Given the description of an element on the screen output the (x, y) to click on. 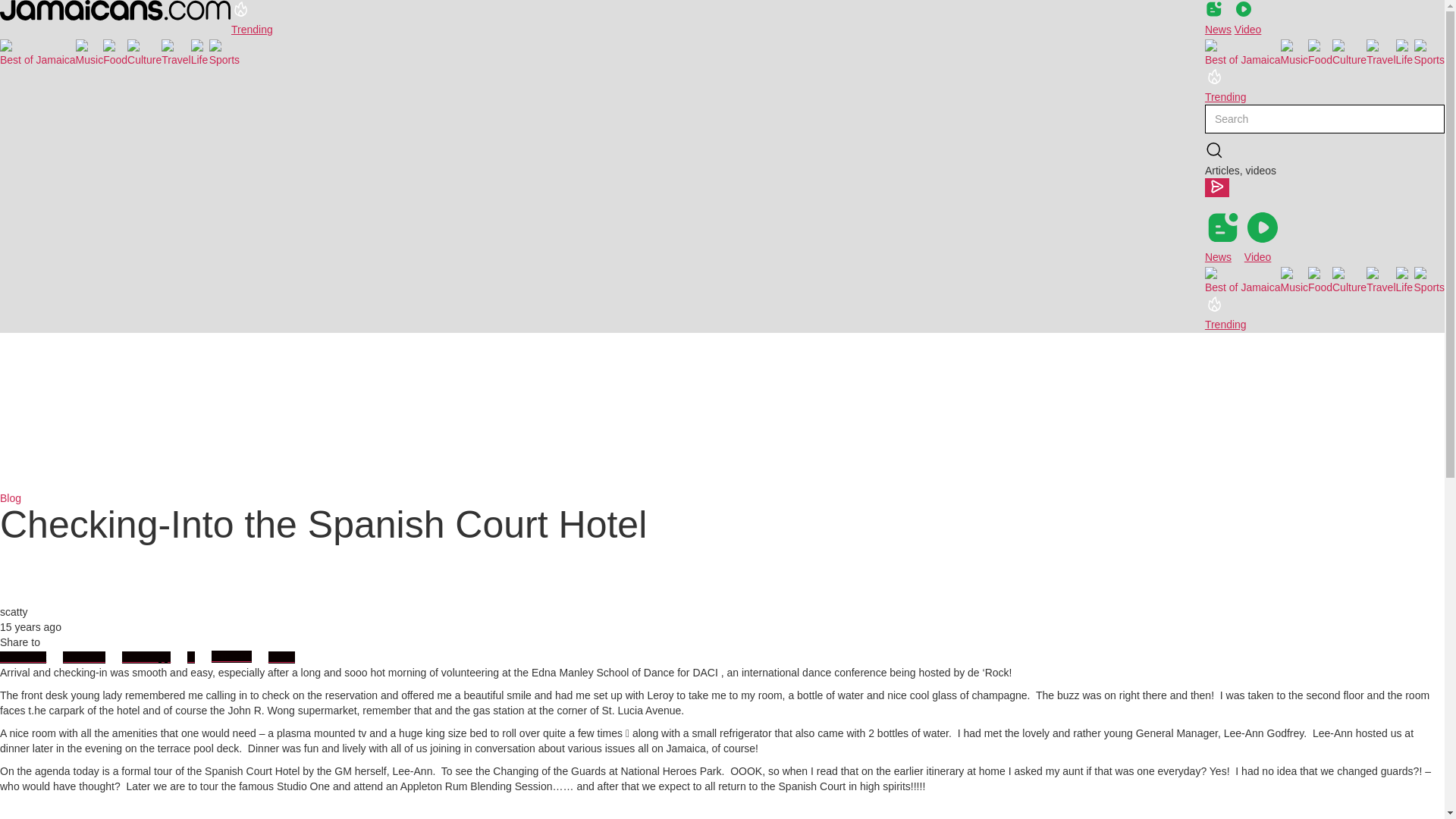
Trending (1225, 313)
Best of Jamaica (37, 51)
Food (115, 51)
Sports (224, 51)
Culture (1349, 279)
Culture (1349, 51)
LinkedIn (231, 656)
Blog (10, 498)
Life (1404, 51)
Trending (252, 18)
Video (1262, 236)
Best of Jamaica (1243, 279)
Life (1404, 279)
News (1218, 18)
Music (1294, 51)
